Given the description of an element on the screen output the (x, y) to click on. 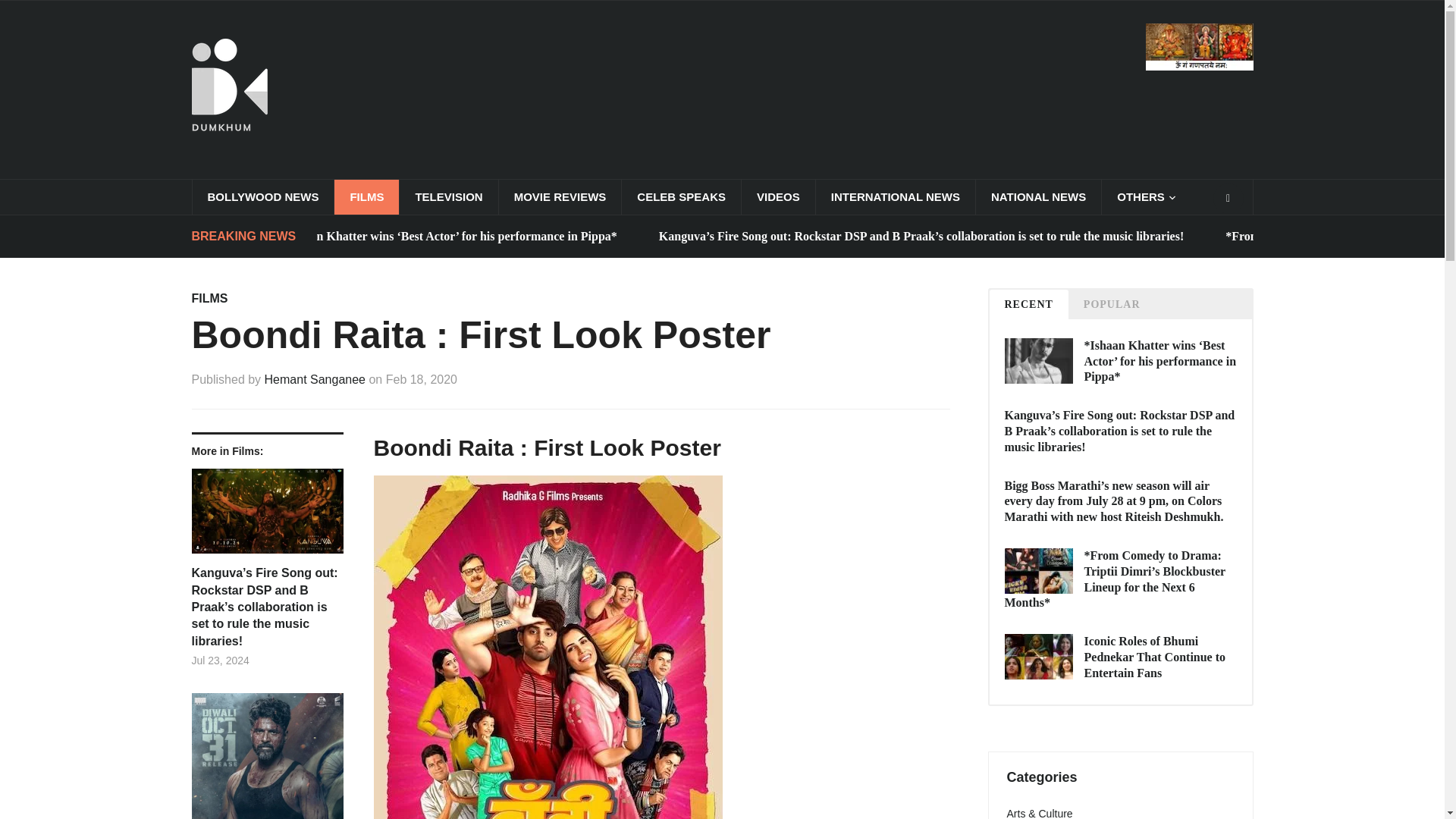
Popular (1112, 304)
Posts by Hemant Sanganee (314, 379)
Recent (1027, 304)
